Given the description of an element on the screen output the (x, y) to click on. 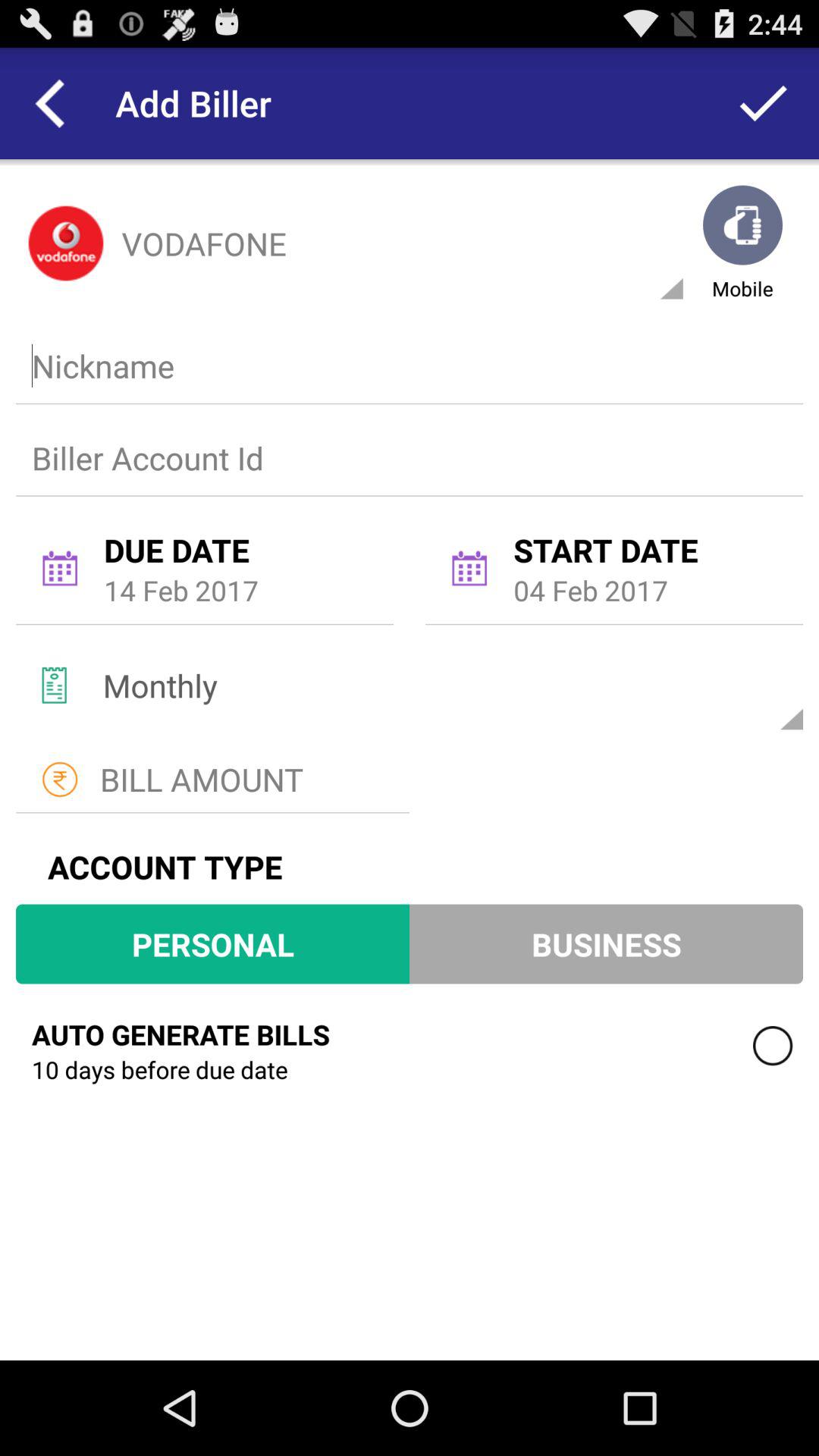
launch the button next to the business icon (212, 943)
